Given the description of an element on the screen output the (x, y) to click on. 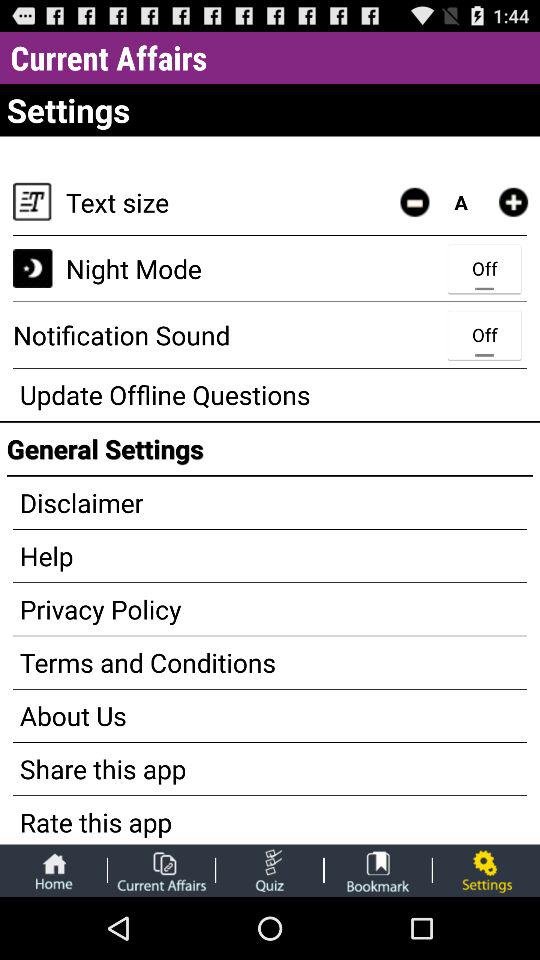
open the icon below the settings (414, 202)
